Given the description of an element on the screen output the (x, y) to click on. 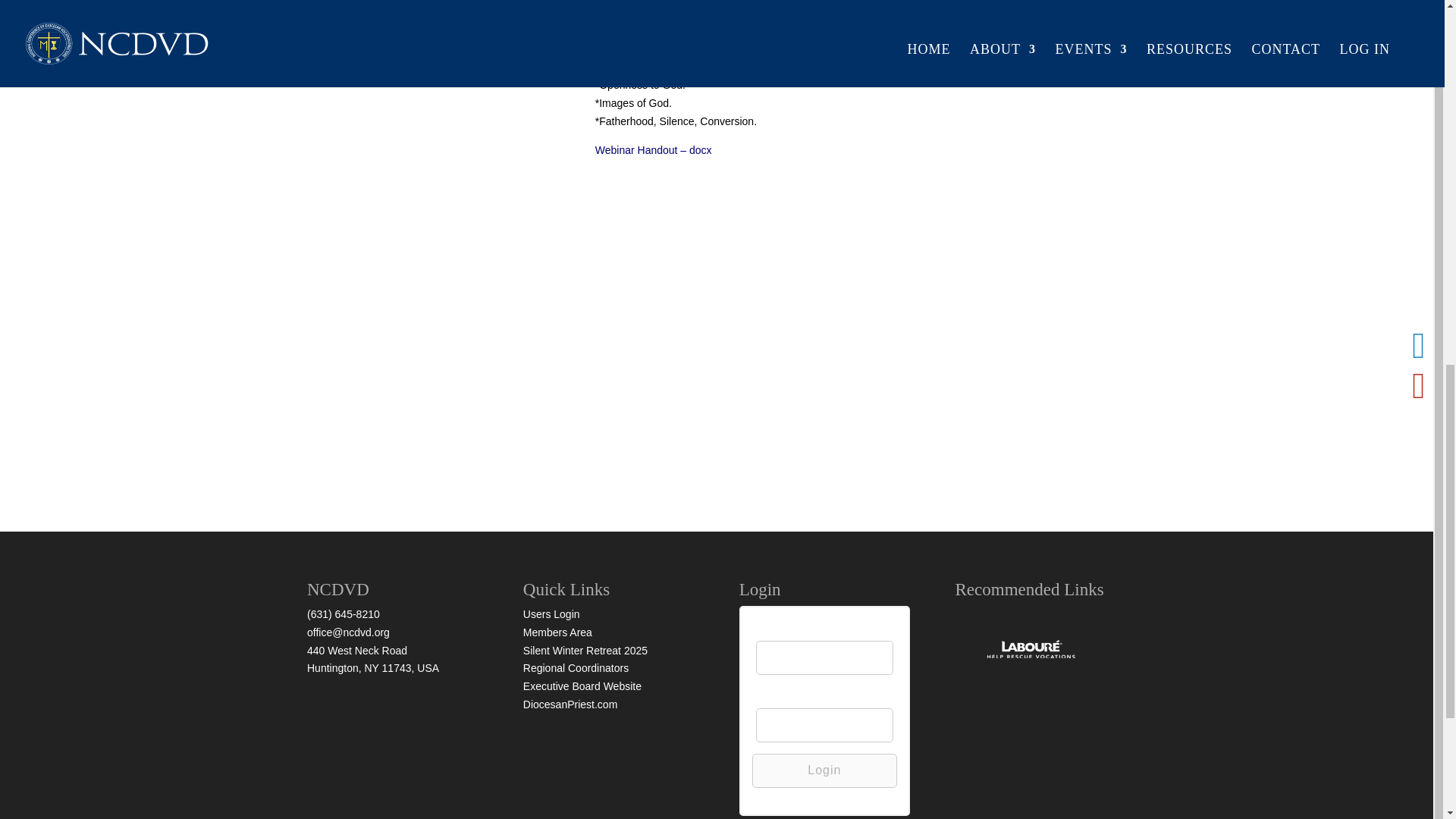
Please enter username (824, 657)
DiocesanPriest.com (569, 704)
Members Area (557, 632)
Logo-white-lg-Registered (1029, 651)
Login (824, 770)
Please enter password (824, 725)
Login (824, 770)
Silent Winter Retreat 2025 (584, 650)
Regional Coordinators (575, 667)
